Given the description of an element on the screen output the (x, y) to click on. 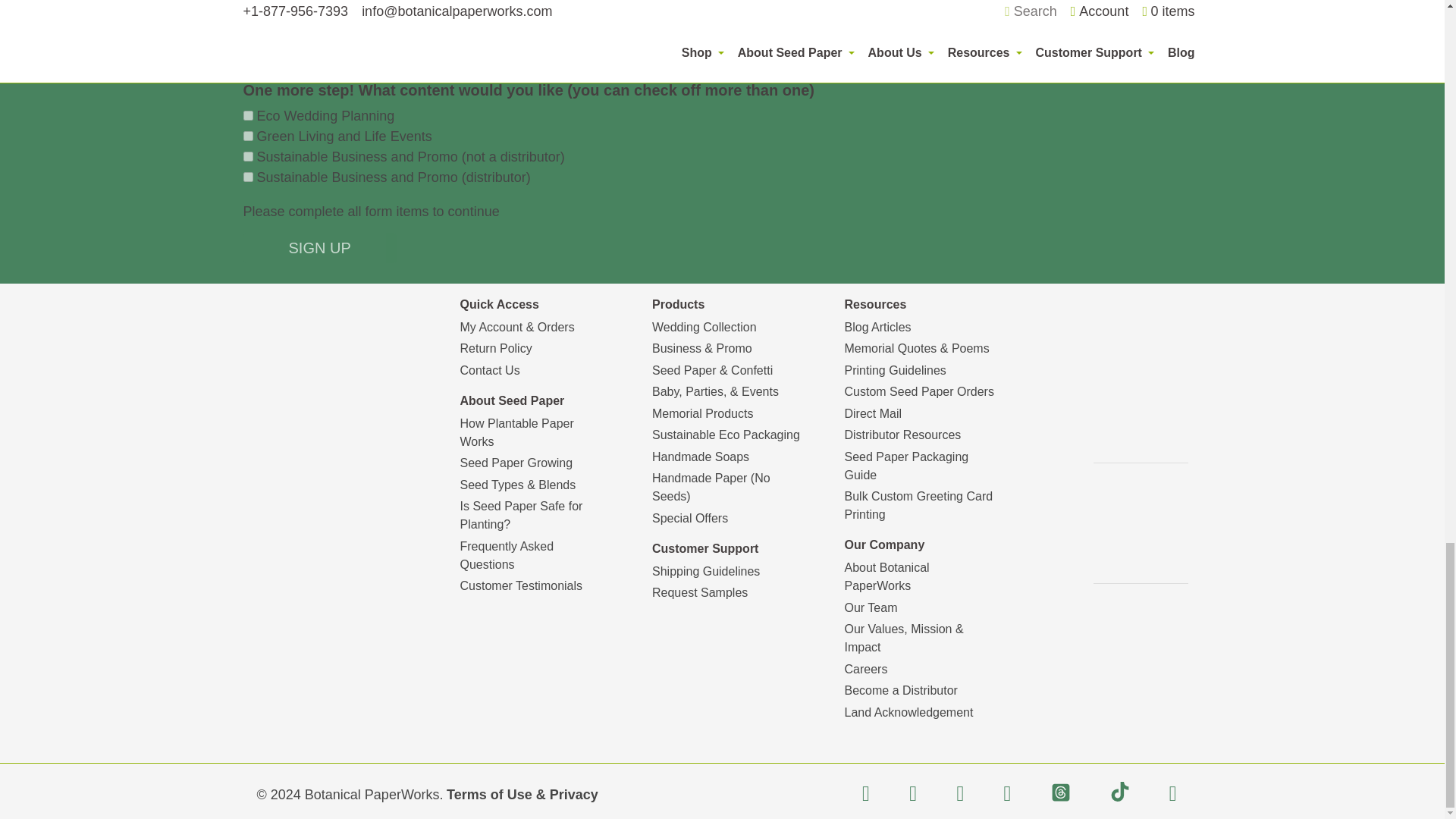
f8bb024828 (247, 156)
ffe58d4ca5 (247, 135)
Sign up (319, 247)
b3a7c6e35e (247, 176)
de72e68fef (247, 115)
